Given the description of an element on the screen output the (x, y) to click on. 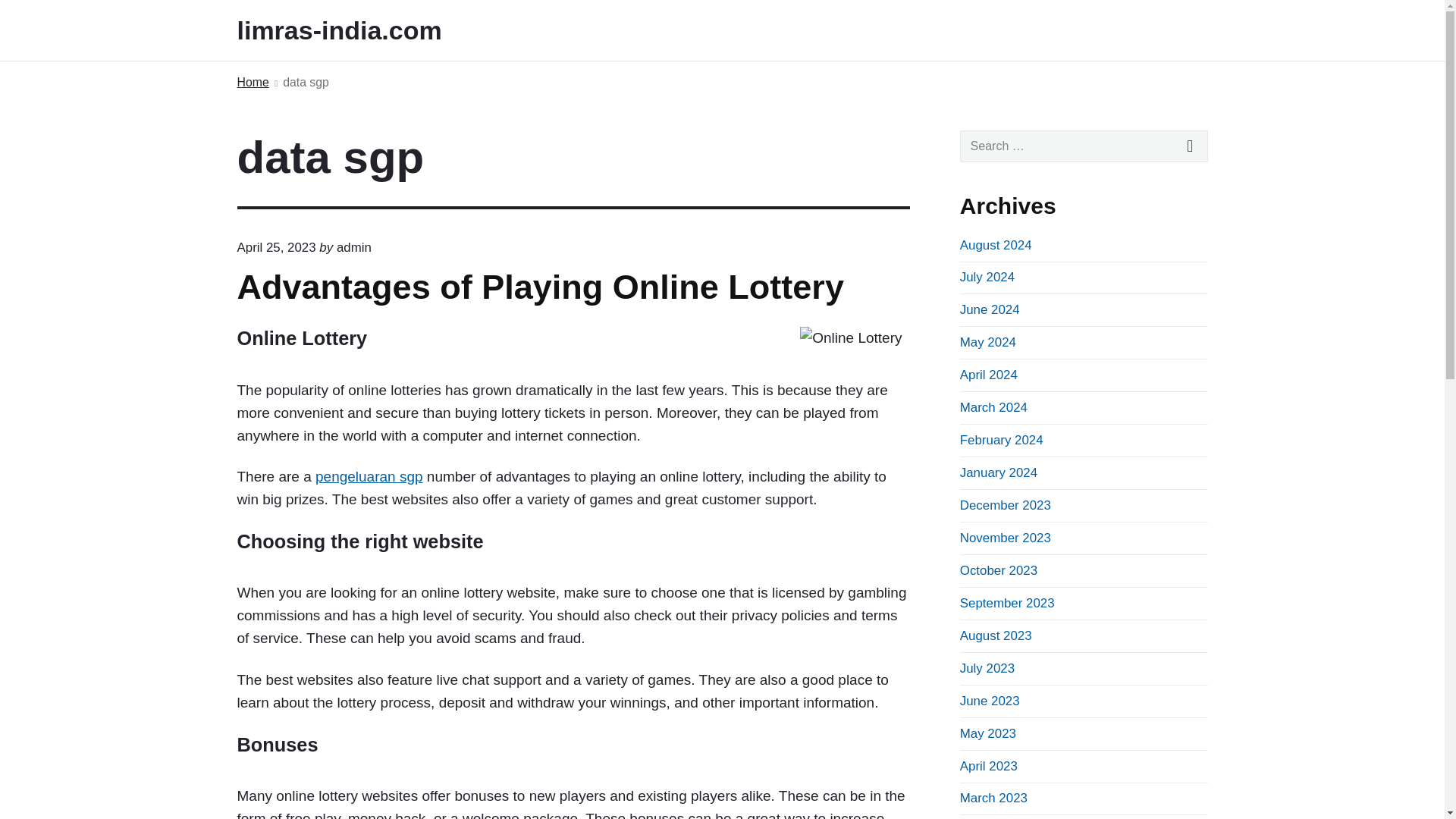
March 2024 (993, 407)
SEARCH (1190, 146)
Search for: (1083, 146)
admin (353, 247)
pengeluaran sgp (369, 476)
May 2024 (987, 341)
February 2024 (1001, 440)
October 2023 (997, 570)
April 2024 (988, 374)
June 2024 (989, 309)
Tuesday, April 25, 2023, 1:43 pm (275, 247)
April 2023 (988, 766)
March 2023 (993, 798)
Posts by admin (353, 247)
November 2023 (1005, 537)
